Given the description of an element on the screen output the (x, y) to click on. 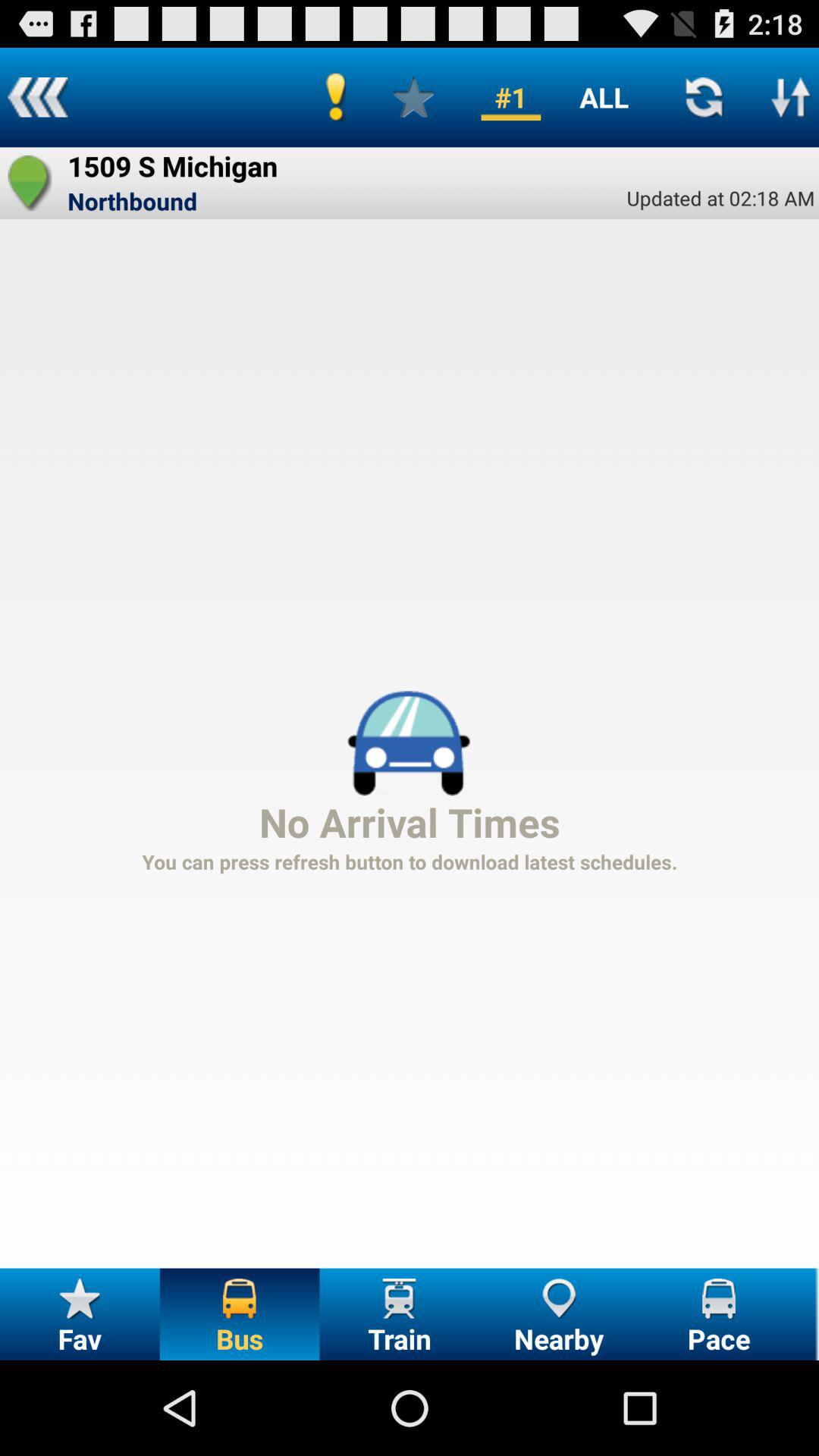
scroll until all  item (603, 97)
